Given the description of an element on the screen output the (x, y) to click on. 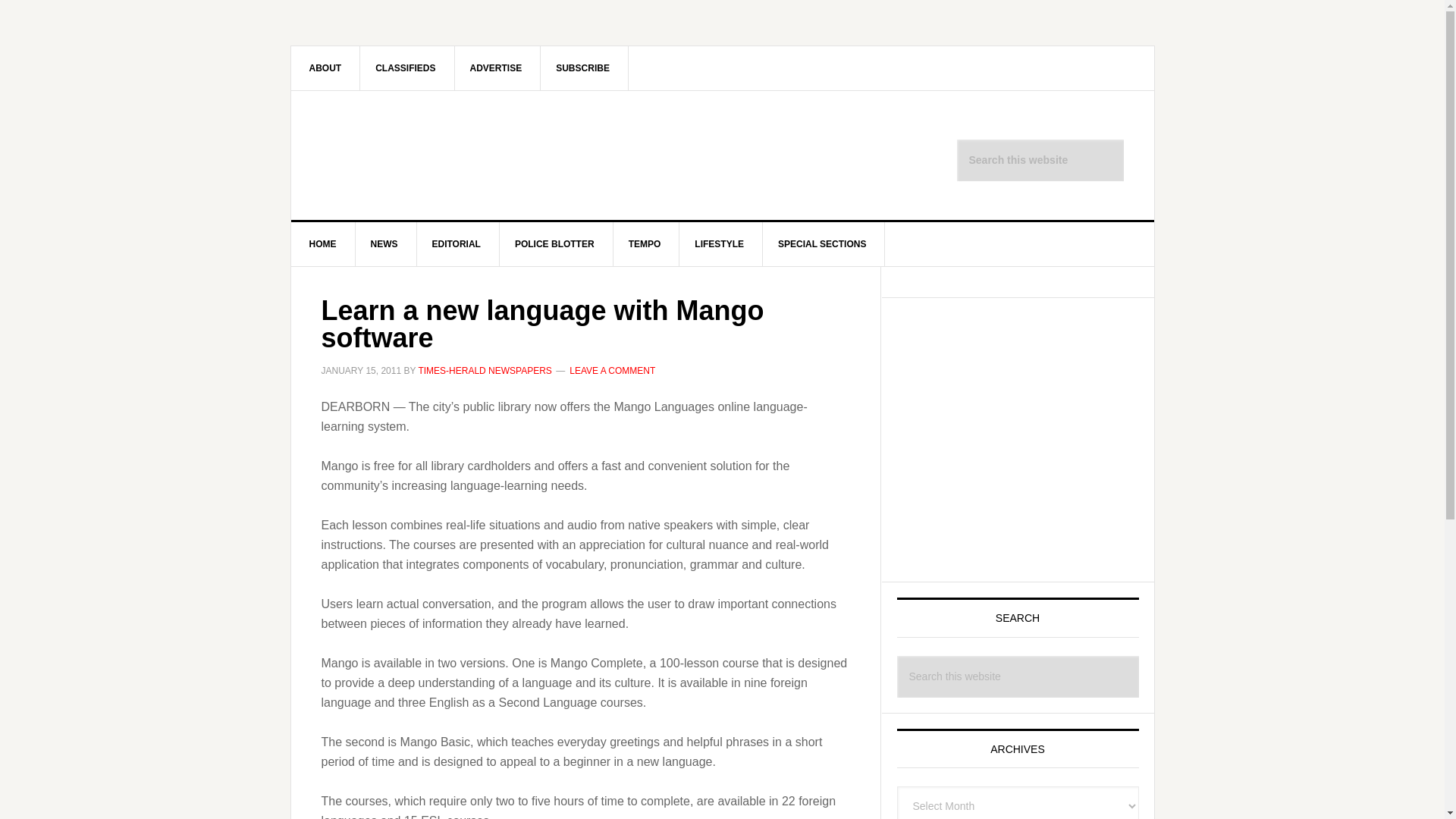
ADVERTISE (496, 67)
NEWS (384, 243)
HOME (323, 243)
POLICE BLOTTER (554, 243)
CLASSIFIEDS (405, 67)
TIMES-HERALD NEWSPAPERS (484, 370)
LIFESTYLE (719, 243)
SUBSCRIBE (582, 67)
